Given the description of an element on the screen output the (x, y) to click on. 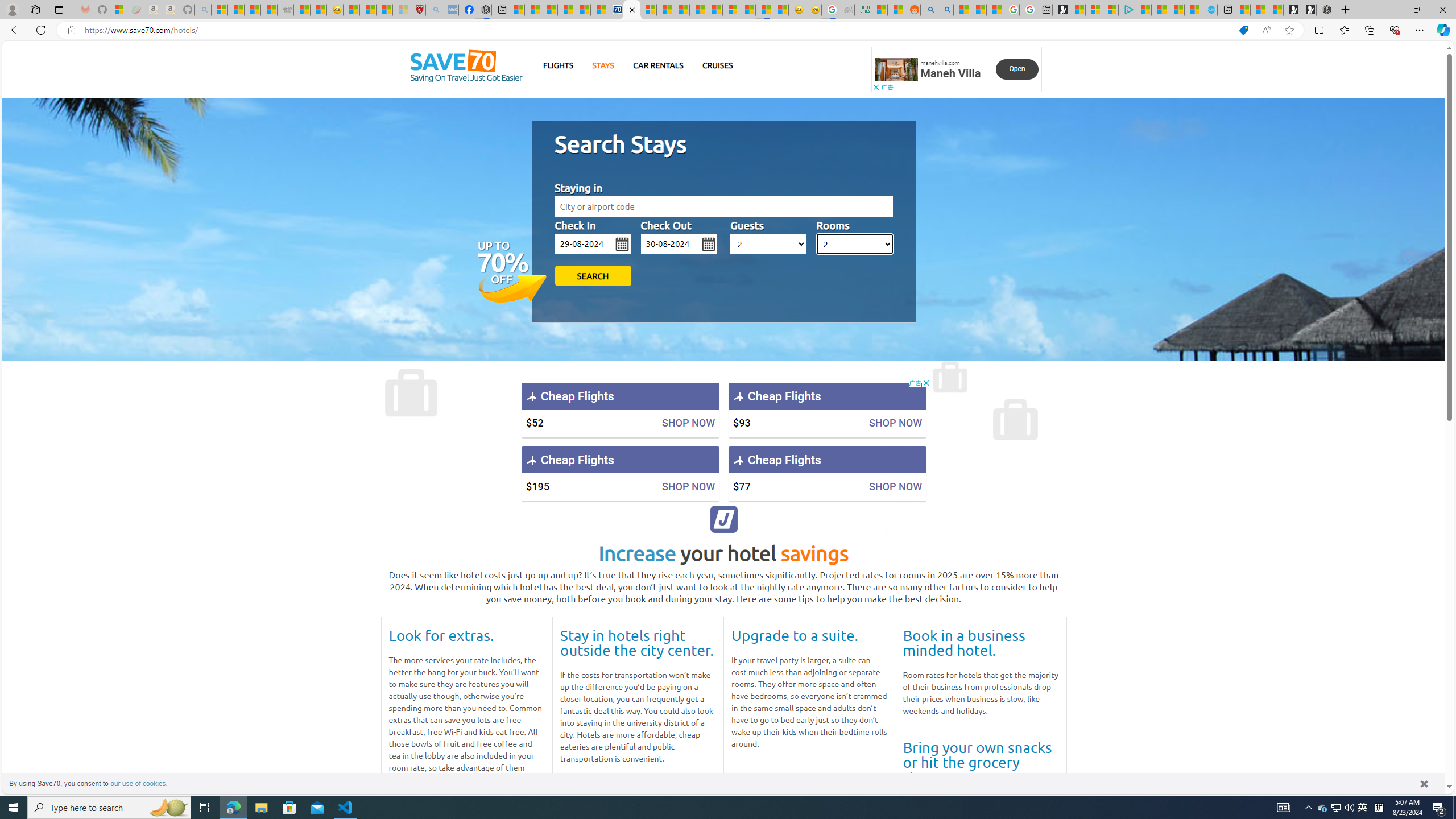
CRUISES (717, 65)
learn more about cookies (138, 783)
Cheap Car Rentals - Save70.com (615, 9)
Class: ns-pn6gp-e-2 svg-anchor text-button-final (1016, 68)
CAR RENTALS (657, 65)
